Given the description of an element on the screen output the (x, y) to click on. 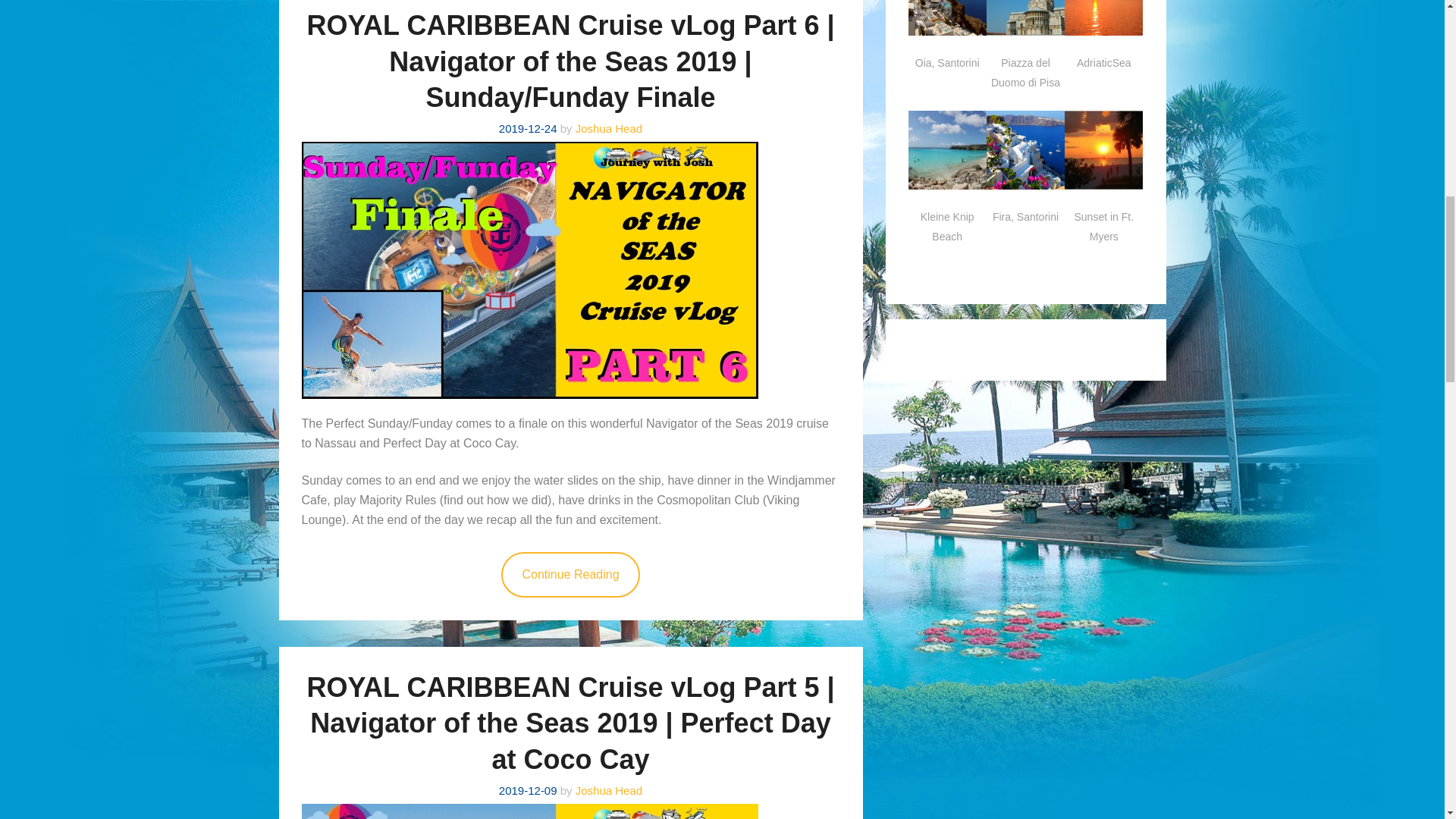
Continue Reading (569, 574)
2019-12-09 (528, 789)
2019-12-24 (528, 128)
